Given the description of an element on the screen output the (x, y) to click on. 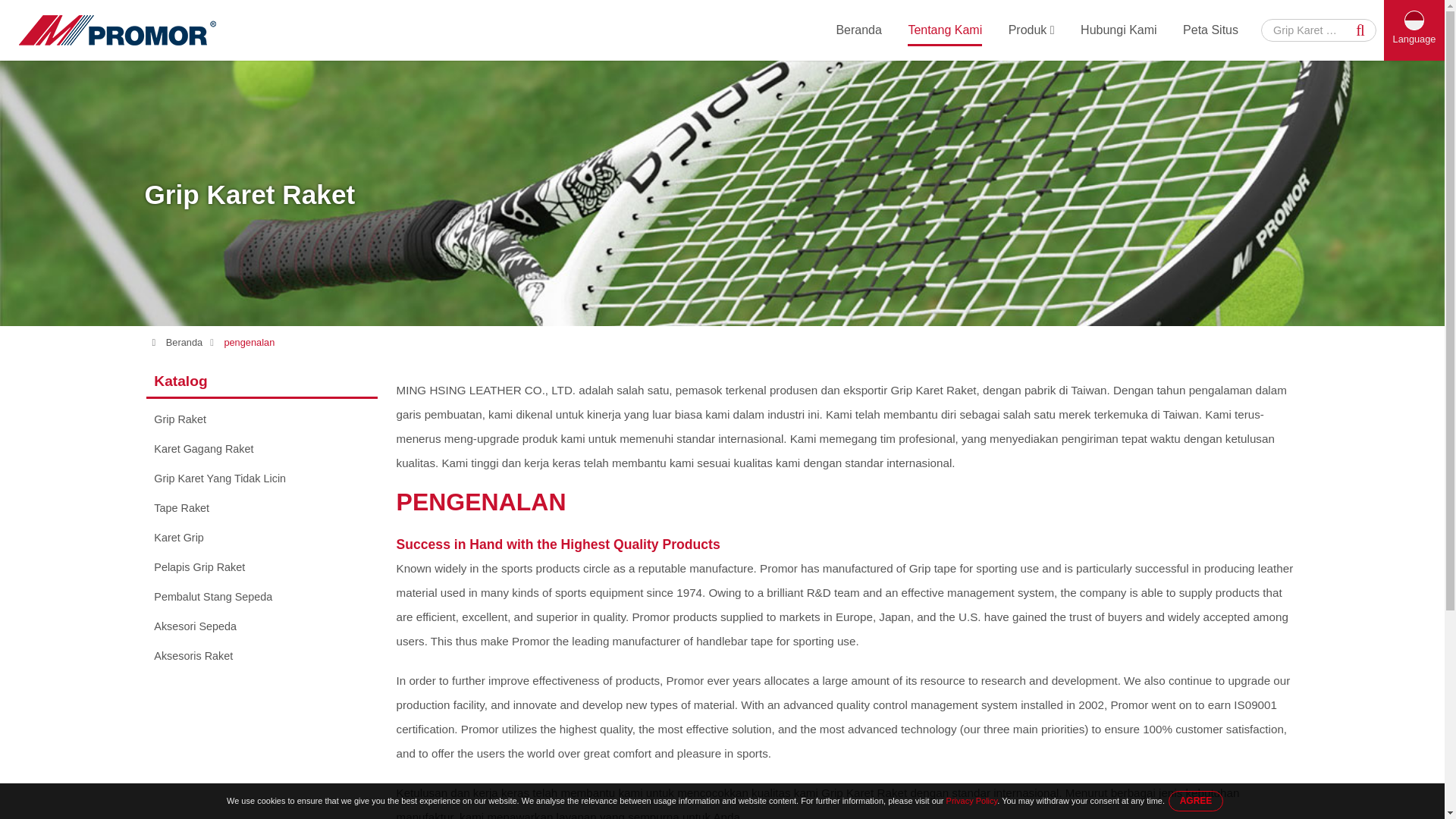
Grip Karet Raket (1307, 29)
MING HSING LEATHER CO., LTD. (116, 30)
Beranda (858, 30)
Produk (1031, 30)
search (1360, 29)
Tentang Kami (944, 30)
Search (1360, 29)
Grip Karet Raket (1307, 29)
